Given the description of an element on the screen output the (x, y) to click on. 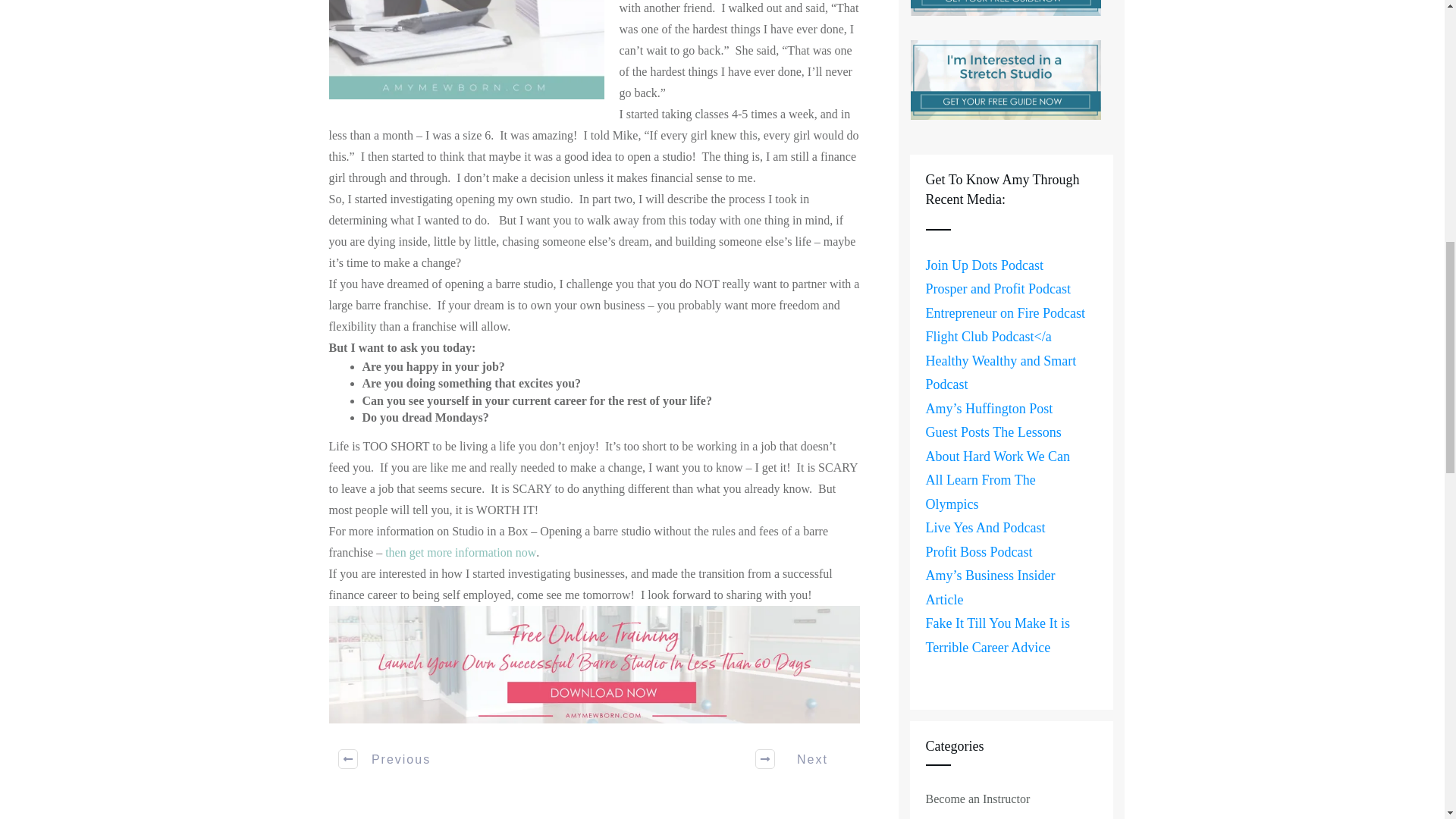
Profit Boss Podcast (978, 551)
Healthy Wealthy and Smart Podcast (999, 372)
Previous (385, 759)
Live Yes And Podcast (984, 527)
Open A Barre Studio without the Barre Franchise (460, 552)
Fake It Till You Make It is Terrible Career Advice (997, 635)
Join Up Dots Podcast (983, 264)
Next (802, 759)
then get more information now (460, 552)
Entrepreneur on Fire Podcast (1004, 313)
